Given the description of an element on the screen output the (x, y) to click on. 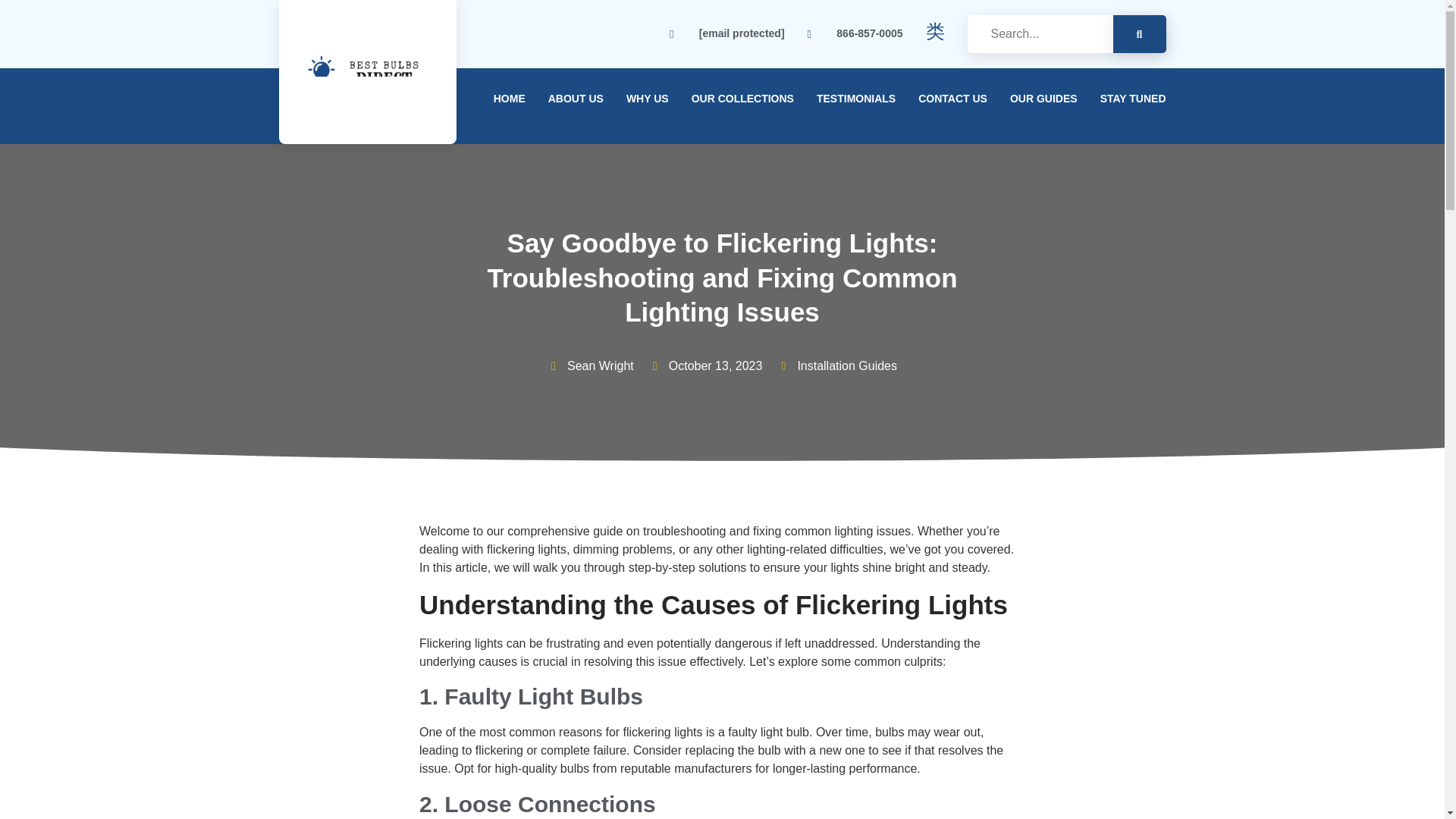
ABOUT US (575, 97)
CONTACT US (952, 97)
OUR GUIDES (1043, 97)
866-857-0005 (855, 33)
STAY TUNED (1133, 97)
HOME (509, 97)
OUR COLLECTIONS (742, 97)
WHY US (646, 97)
TESTIMONIALS (856, 97)
